Given the description of an element on the screen output the (x, y) to click on. 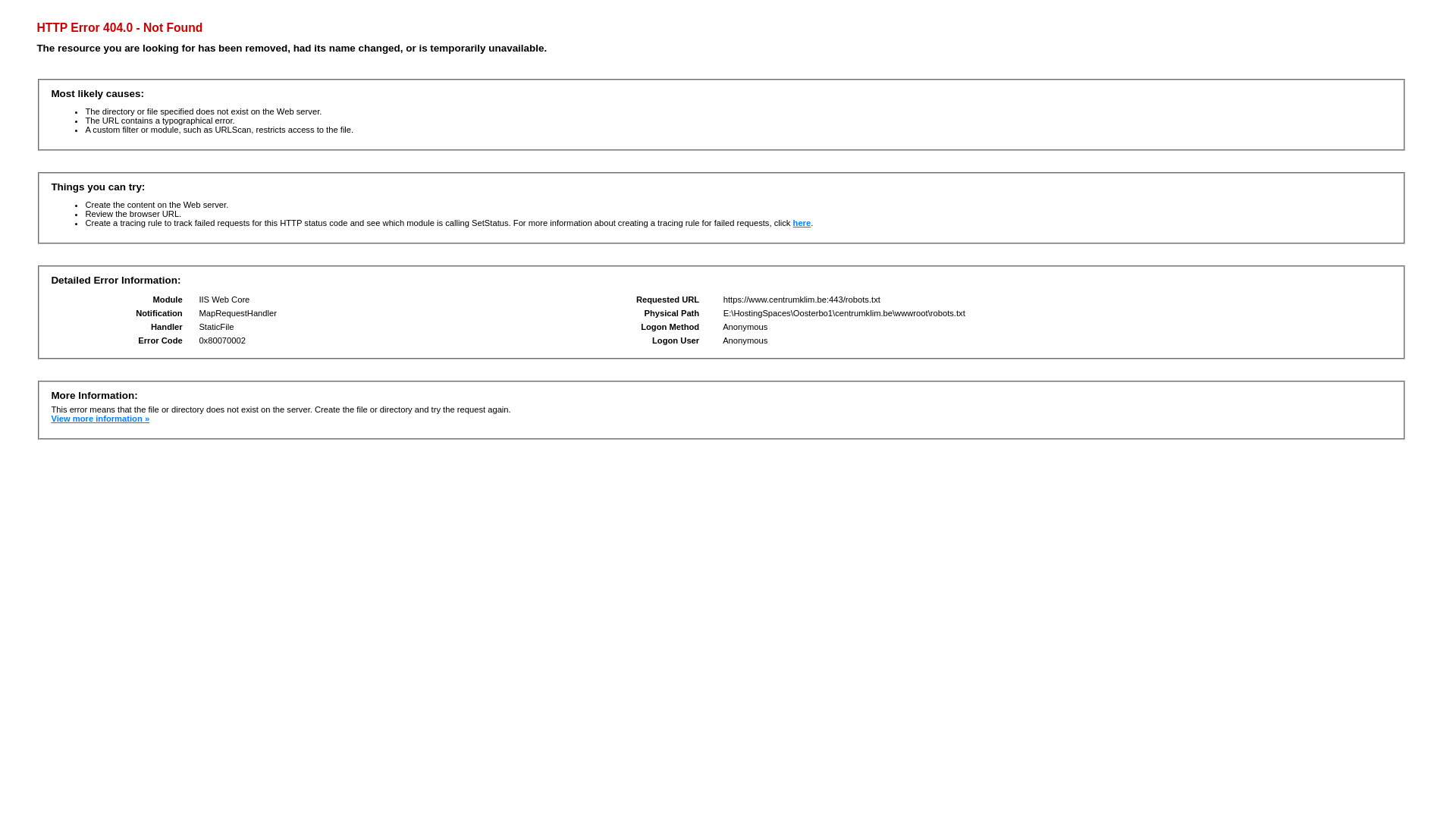
here Element type: text (802, 222)
